Given the description of an element on the screen output the (x, y) to click on. 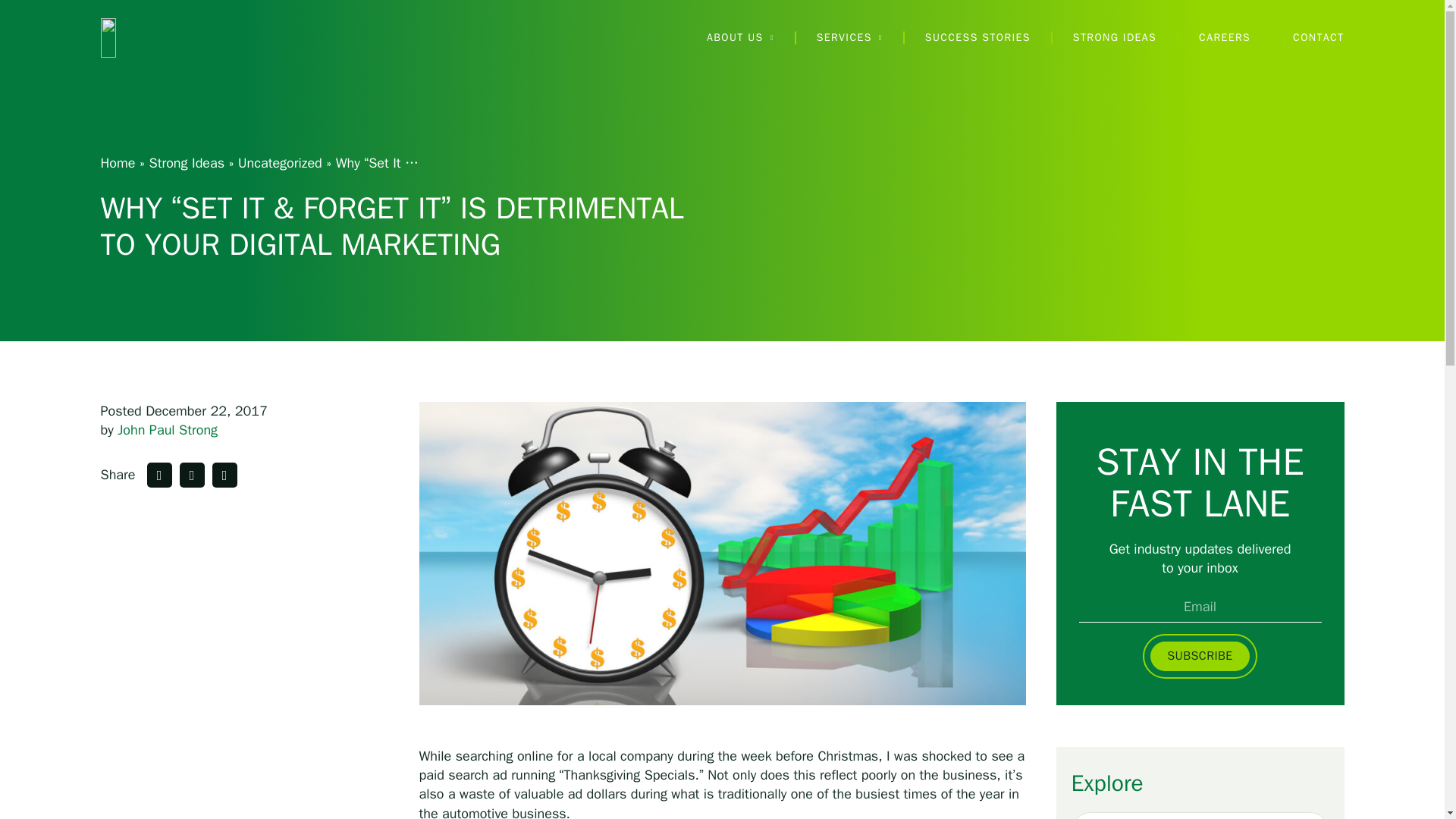
SERVICES (850, 37)
SUCCESS STORIES (977, 37)
STRONG IDEAS (1115, 37)
Strong Automotive (178, 37)
CAREERS (1224, 37)
ABOUT US (740, 37)
CONTACT (1318, 37)
